Given the description of an element on the screen output the (x, y) to click on. 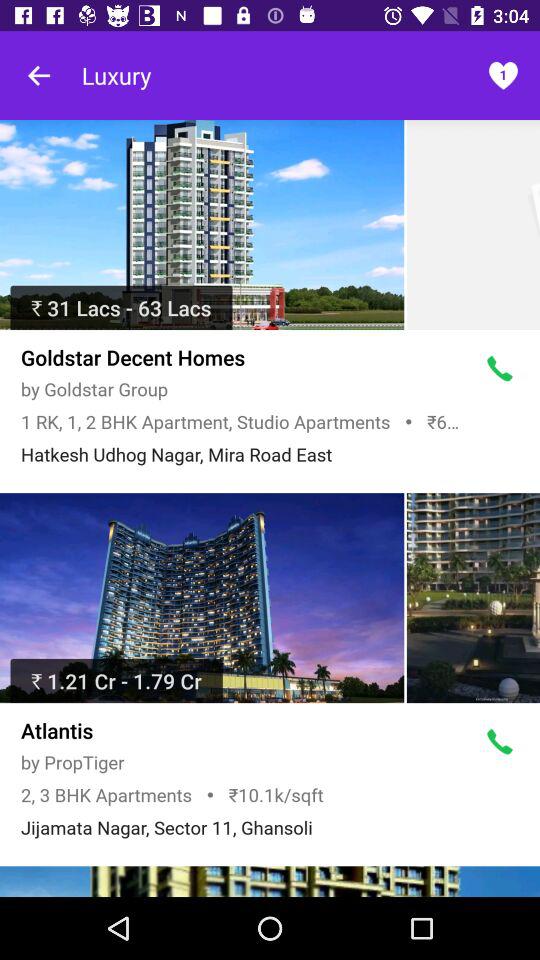
view hotel details (202, 225)
